Given the description of an element on the screen output the (x, y) to click on. 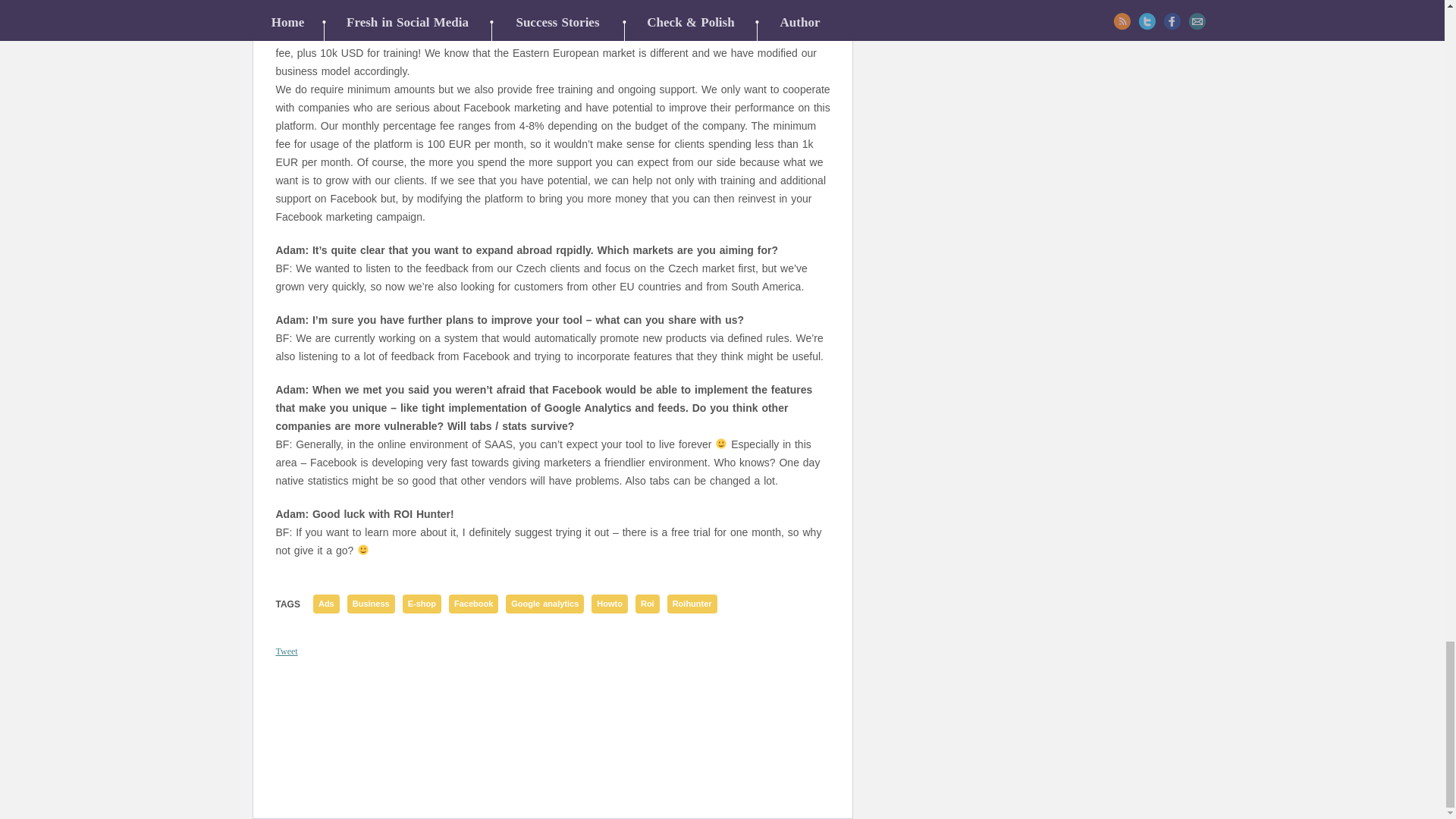
Ads (326, 603)
Facebook (472, 603)
Roi (646, 603)
Business (370, 603)
Google analytics (544, 603)
E-shop (422, 603)
Howto (609, 603)
Tweet (287, 651)
Roihunter (691, 603)
